Given the description of an element on the screen output the (x, y) to click on. 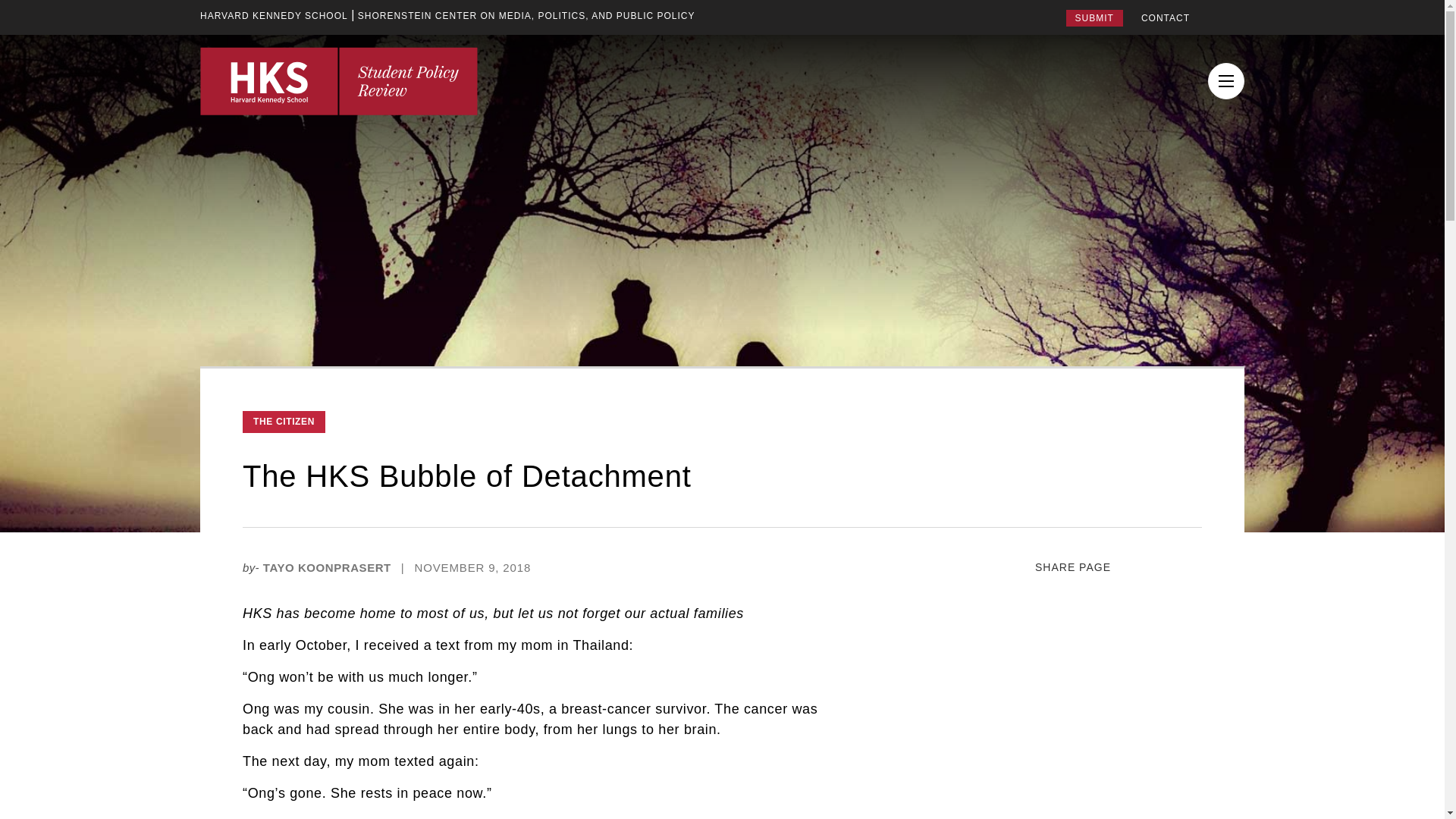
Shorenstein Center on Media, Politics, and Public Policy (526, 15)
Harvard Kennedy School (273, 15)
SHORENSTEIN CENTER ON MEDIA, POLITICS, AND PUBLIC POLICY (526, 15)
HKS Student Policy Review (338, 80)
SUBMIT (1093, 17)
HARVARD KENNEDY SCHOOL (273, 15)
CONTACT (1165, 18)
